Given the description of an element on the screen output the (x, y) to click on. 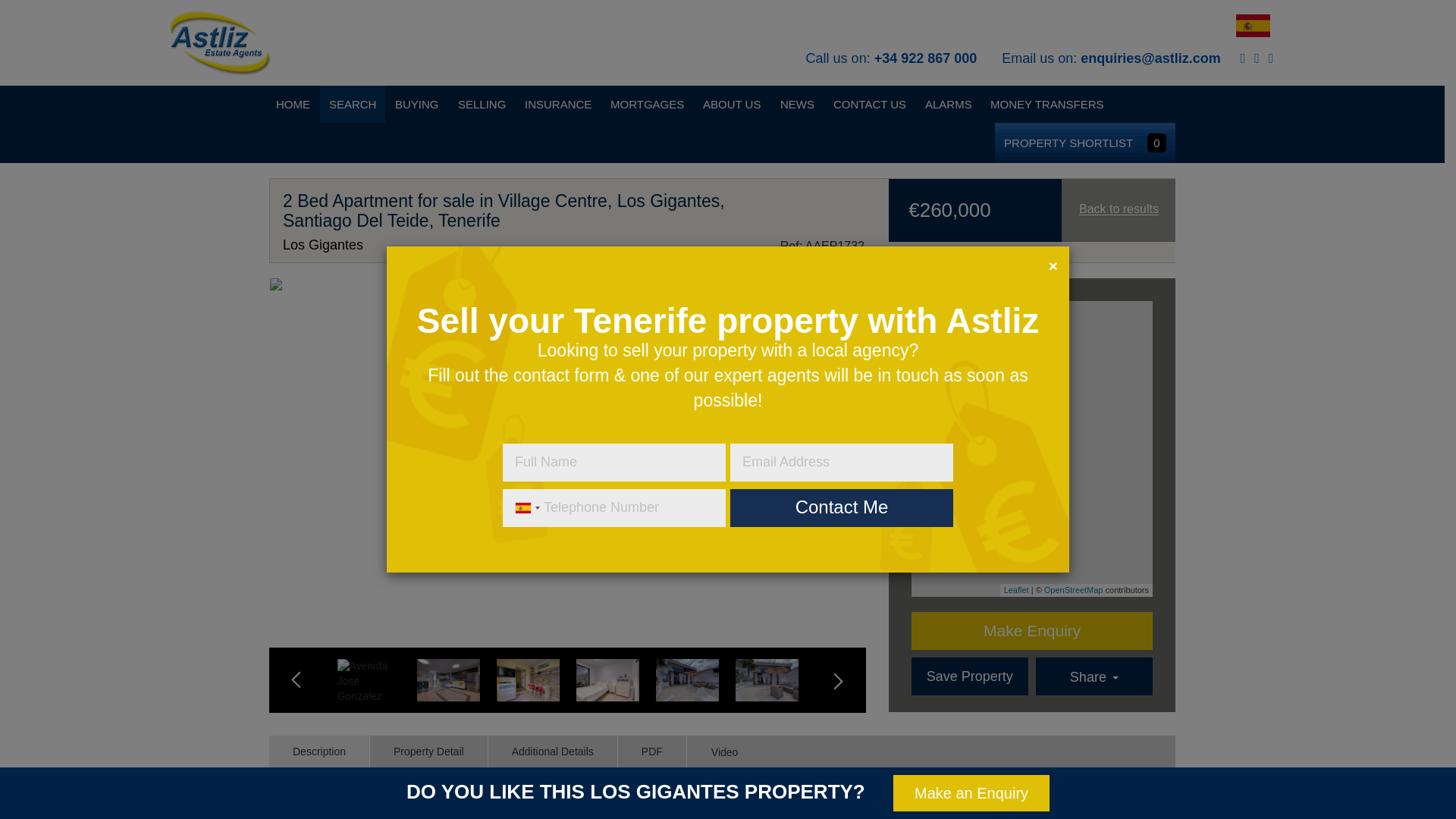
PROPERTY SHORTLIST 0 (1084, 142)
INSURANCE (557, 103)
Back to results (1118, 209)
MONEY TRANSFERS (1046, 103)
BUYING (416, 103)
SEARCH (352, 103)
NEWS (797, 103)
Avenida Jose Gonzalez Fortes - Los Gigantes -  (567, 461)
MORTGAGES (647, 103)
ABOUT US (732, 103)
HOME (292, 103)
ALARMS (948, 103)
CONTACT US (869, 103)
SELLING (481, 103)
